Given the description of an element on the screen output the (x, y) to click on. 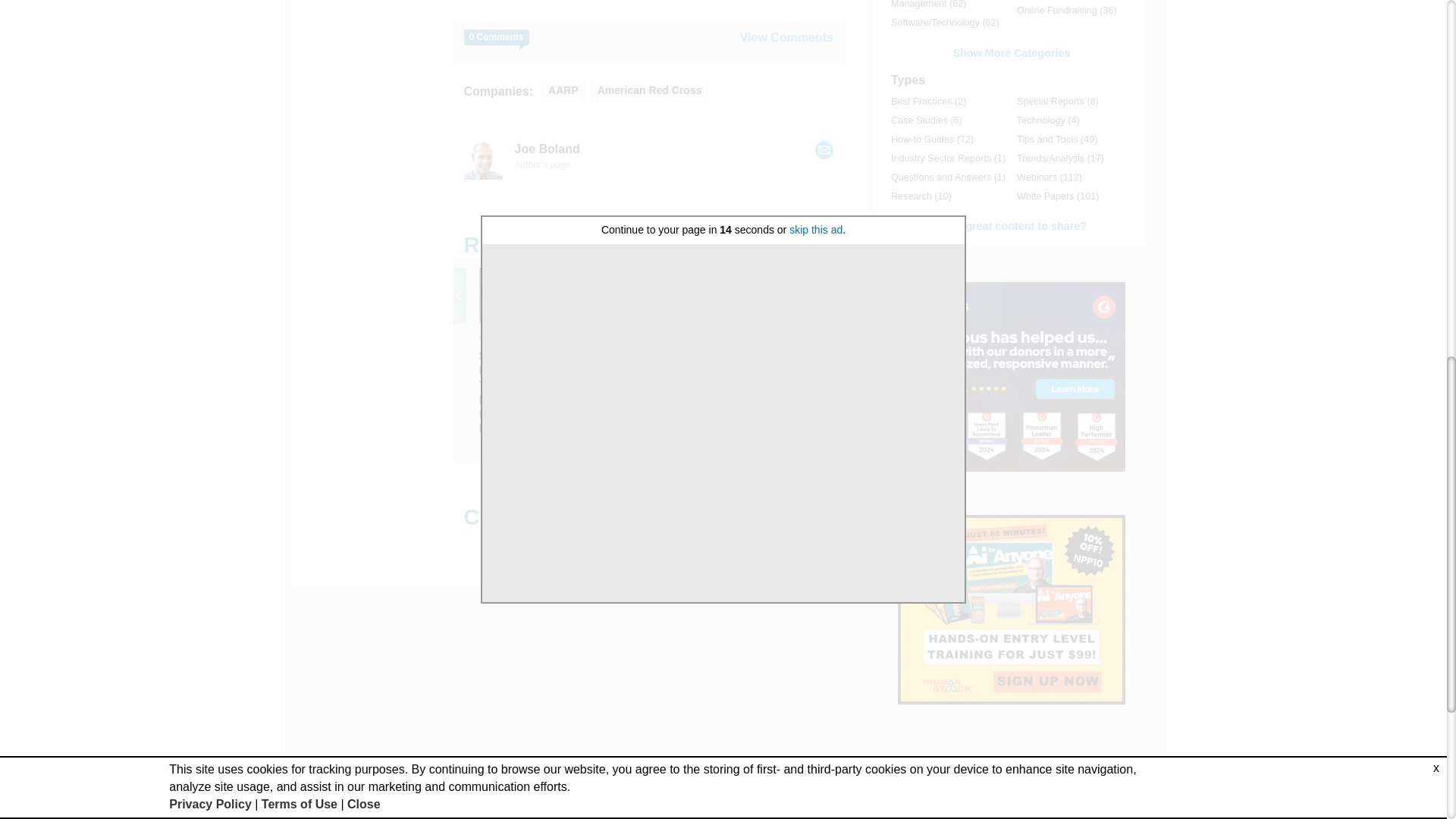
3rd party ad content (1011, 609)
3rd party ad content (1011, 376)
